Given the description of an element on the screen output the (x, y) to click on. 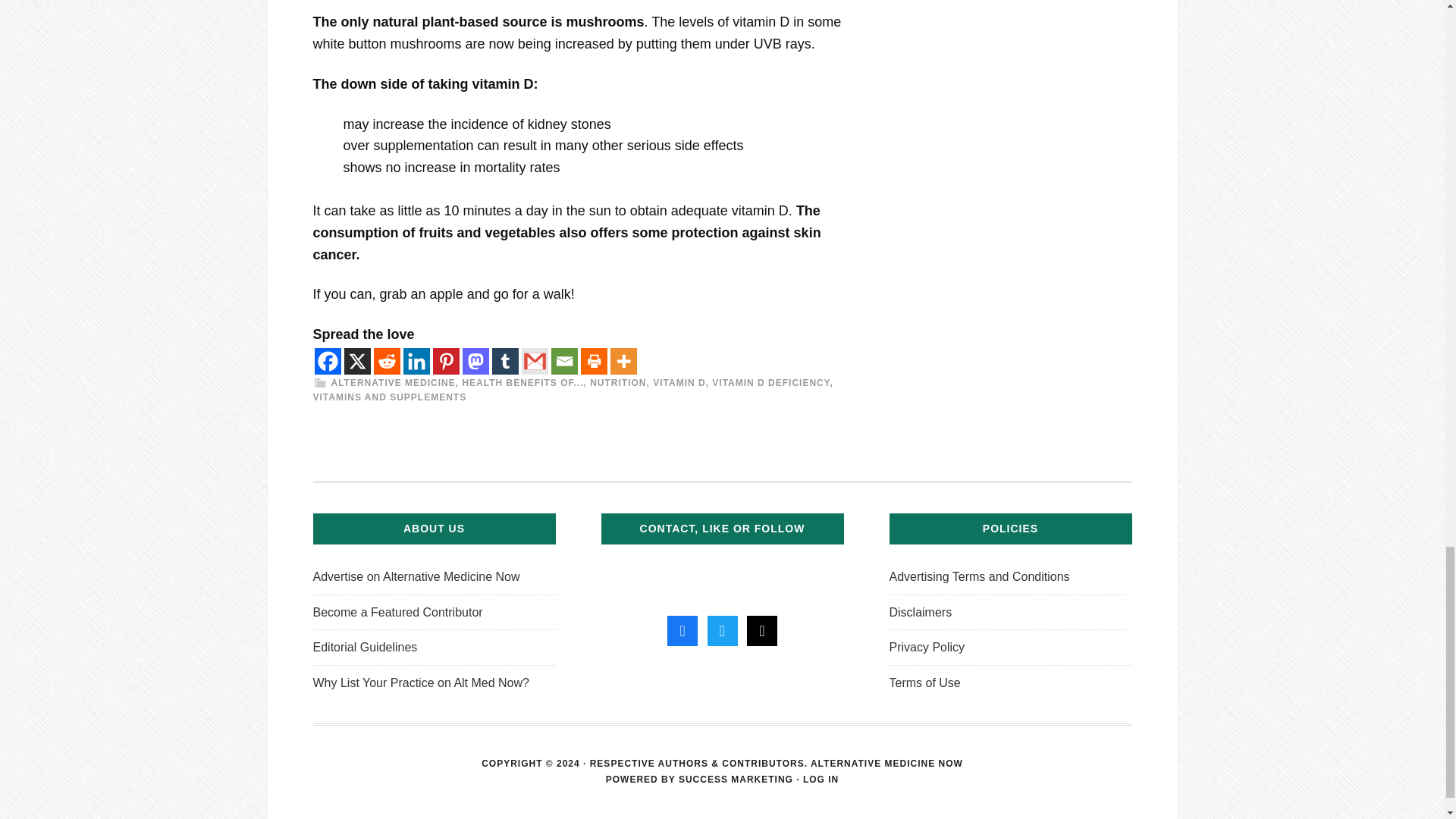
Tumblr (505, 361)
VITAMIN D DEFICIENCY (770, 382)
Facebook (327, 361)
HEALTH BENEFITS OF... (522, 382)
Linkedin (416, 361)
VITAMINS AND SUPPLEMENTS (389, 397)
Mastodon (476, 361)
Print (593, 361)
Become a Featured Contributor (397, 612)
X (357, 361)
ALTERNATIVE MEDICINE (392, 382)
Reddit (385, 361)
More (623, 361)
Editorial Guidelines (364, 646)
VITAMIN D (678, 382)
